Given the description of an element on the screen output the (x, y) to click on. 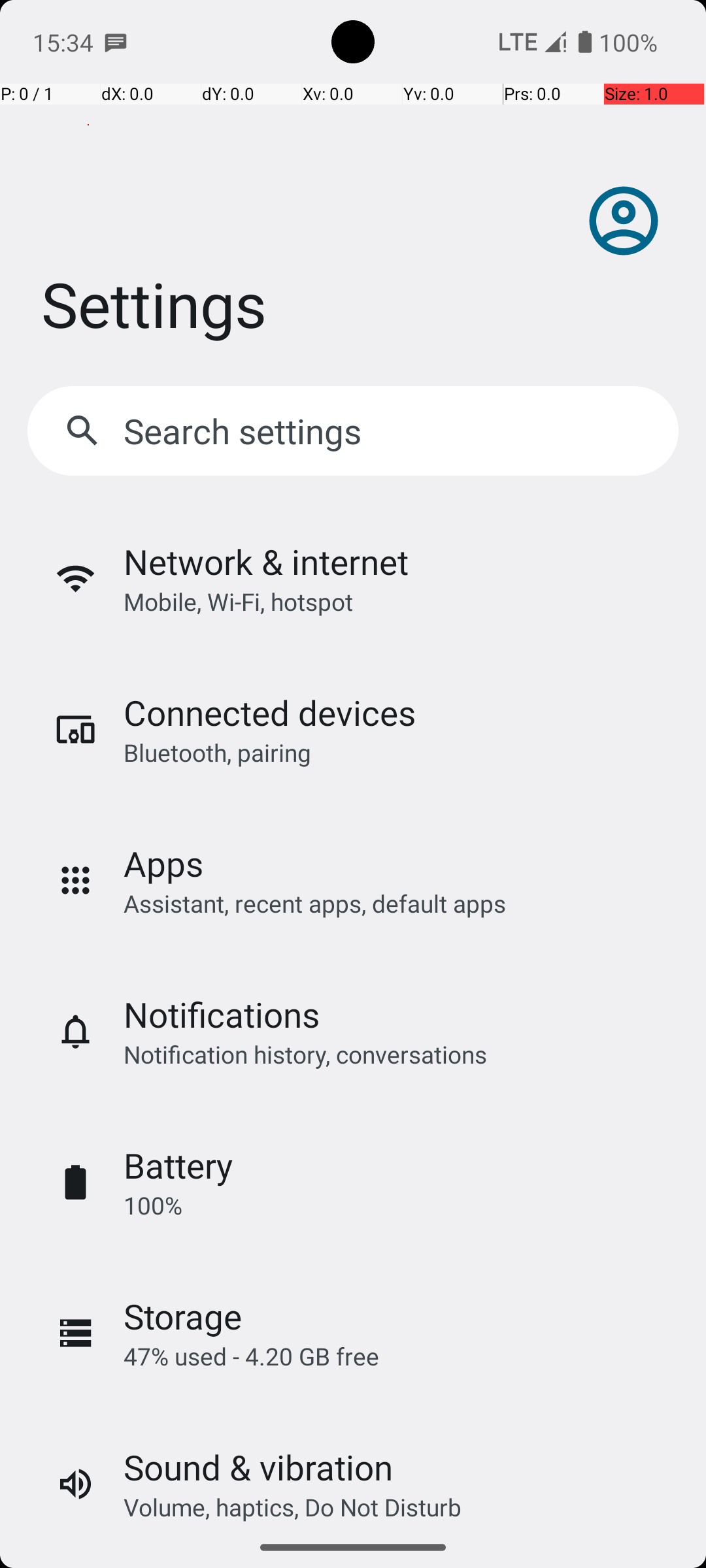
47% used - 4.20 GB free Element type: android.widget.TextView (251, 1355)
